Given the description of an element on the screen output the (x, y) to click on. 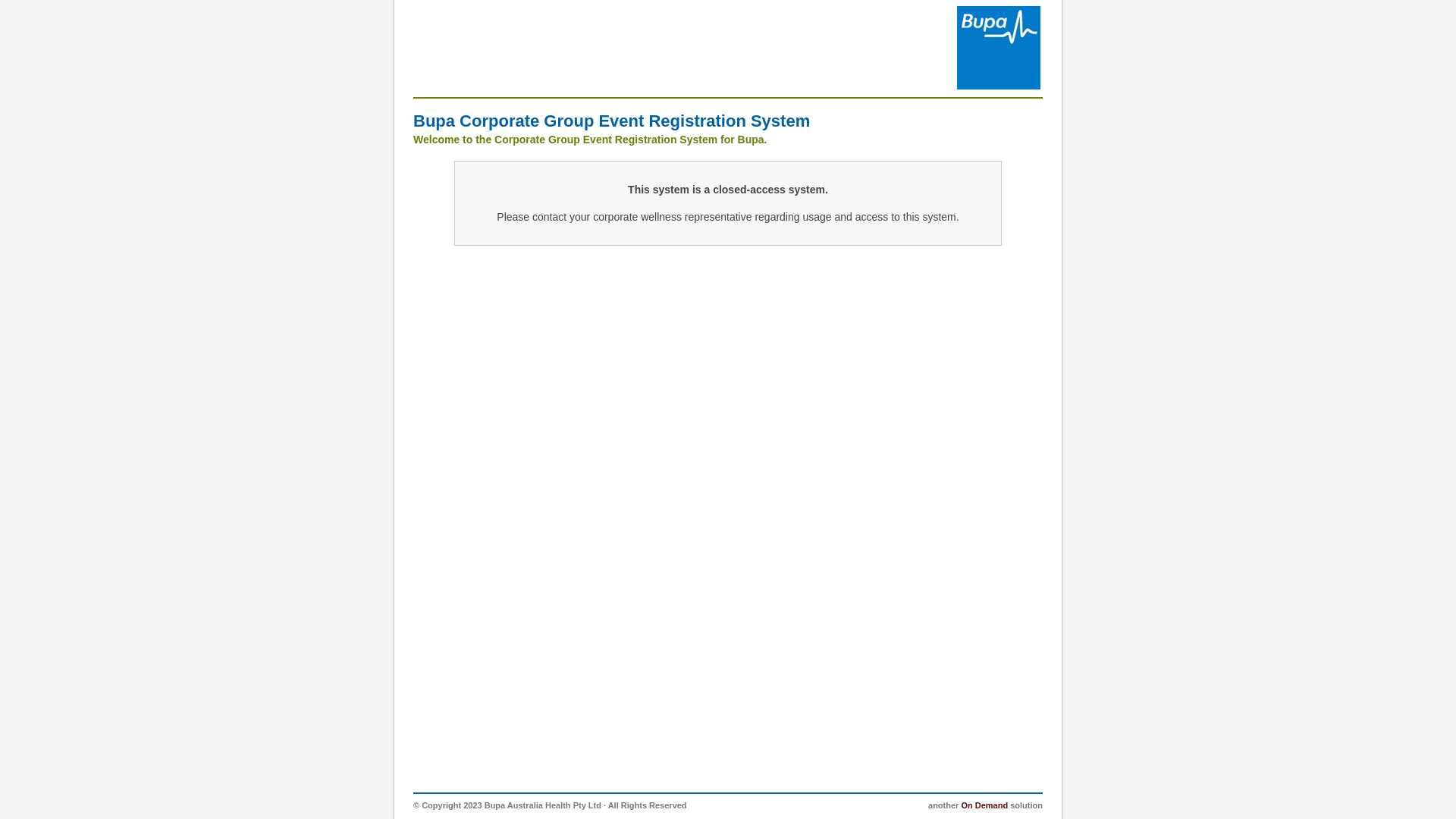
On Demand Element type: text (983, 804)
